Given the description of an element on the screen output the (x, y) to click on. 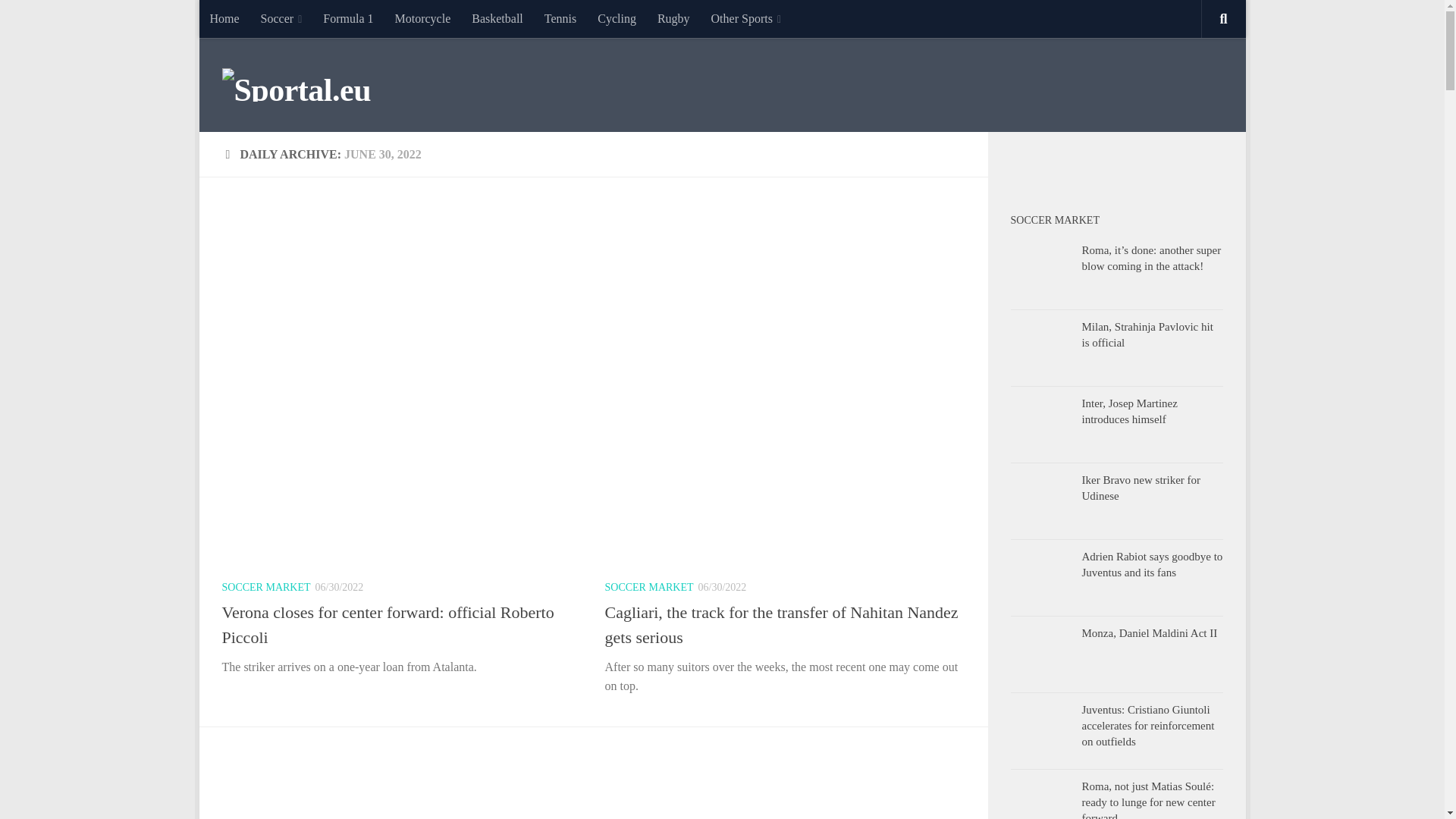
Home (223, 18)
German (1104, 163)
Italian (1129, 163)
Tennis (560, 18)
SOCCER MARKET (649, 586)
Spanish (1054, 163)
Basketball (497, 18)
Portuguese (1153, 163)
Motorcycle (422, 18)
French (1079, 163)
English (1029, 163)
Other Sports (746, 18)
Rugby (673, 18)
Japanese (1178, 163)
SOCCER MARKET (265, 586)
